Given the description of an element on the screen output the (x, y) to click on. 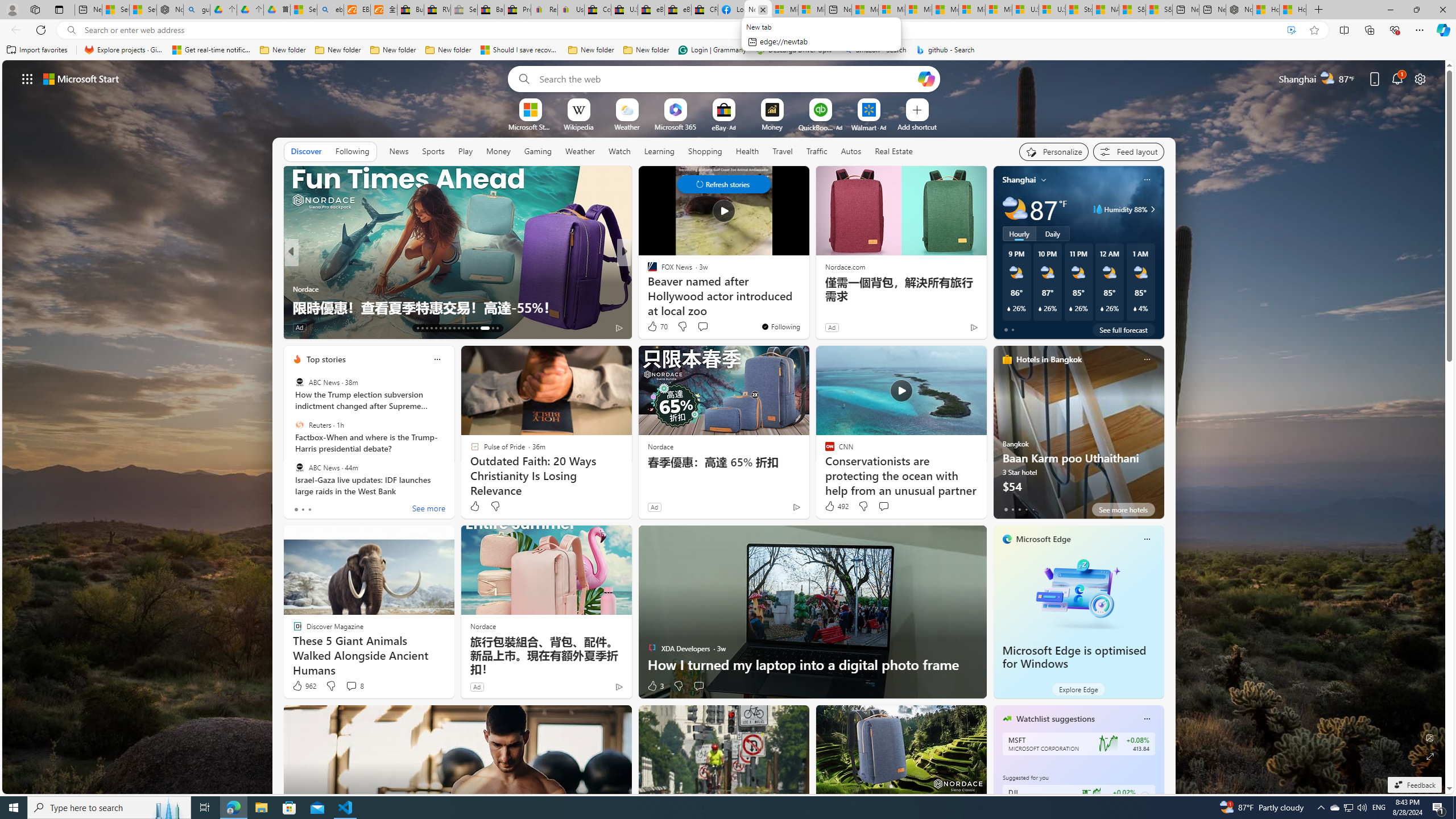
Real Estate (893, 151)
amazon - Search (875, 49)
You're following FOX News (780, 326)
Expand background (1430, 756)
Import favorites (36, 49)
See more (428, 509)
Microsoft 365 (675, 126)
Explore Edge (1078, 689)
Shopping (705, 151)
Open Copilot (926, 78)
Autos (851, 151)
Feed settings (1128, 151)
